Given the description of an element on the screen output the (x, y) to click on. 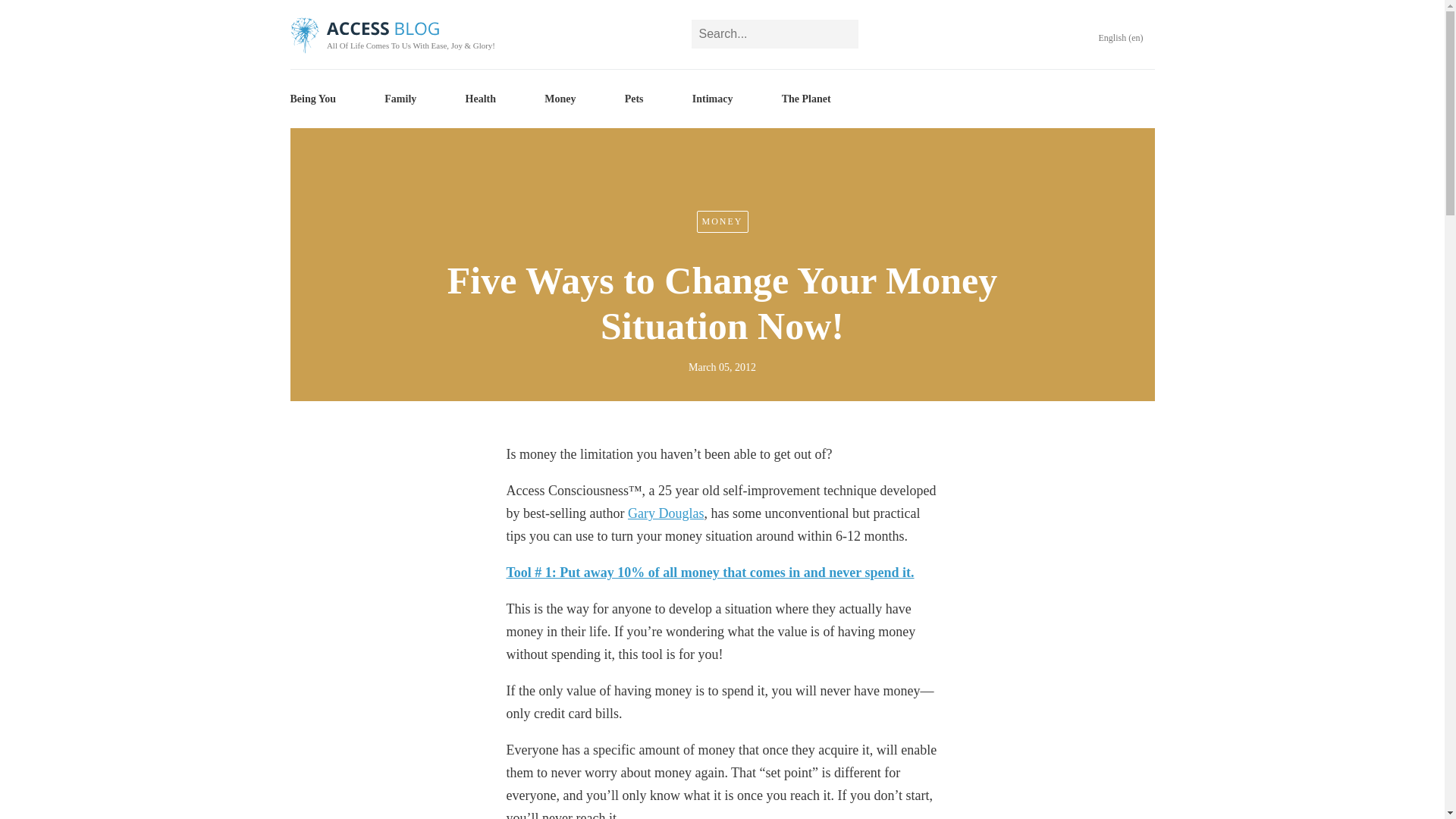
Gary Douglas (665, 513)
